Given the description of an element on the screen output the (x, y) to click on. 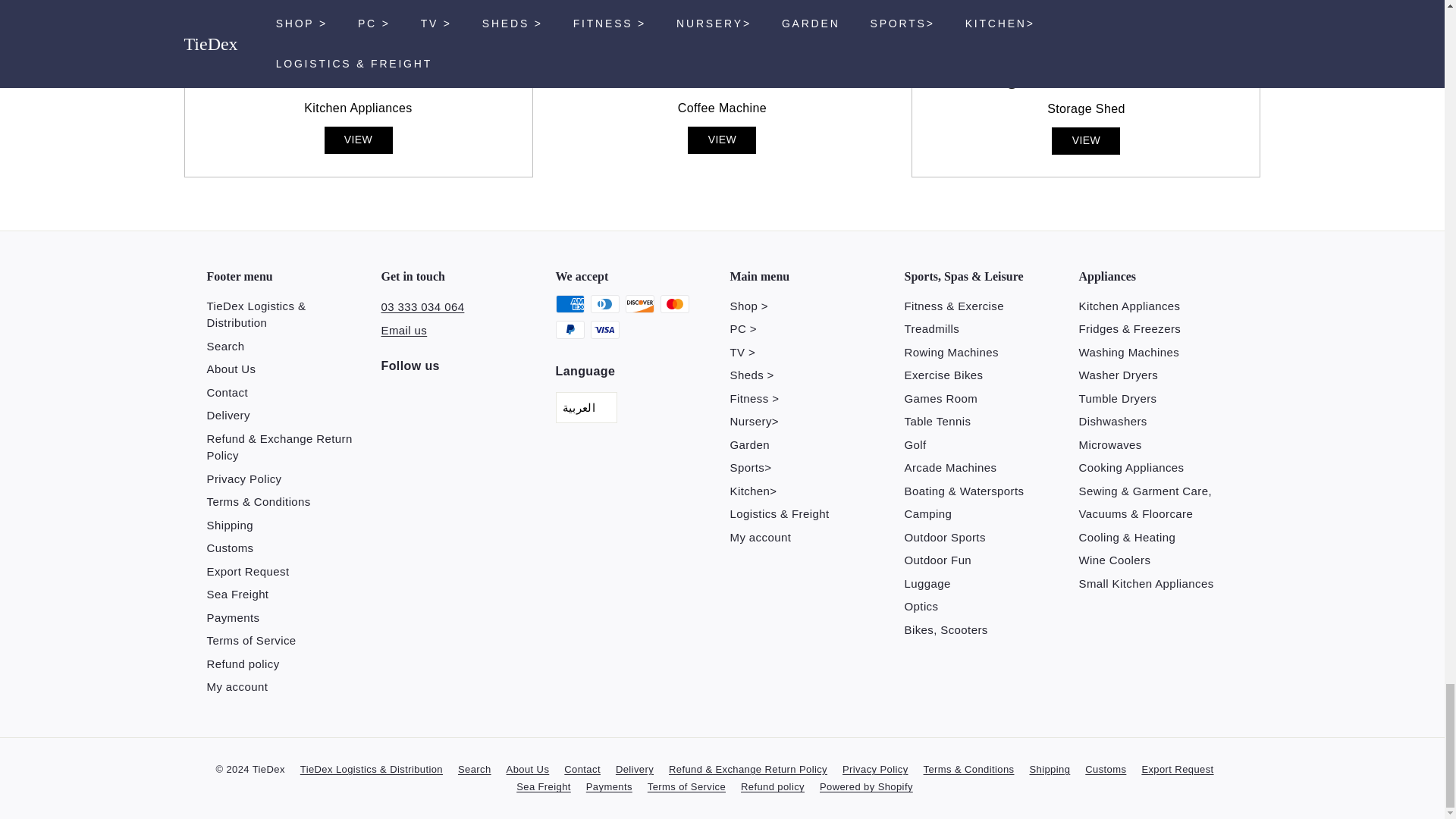
Mastercard (673, 303)
Visa (603, 330)
American Express (568, 303)
Diners Club (603, 303)
PayPal (568, 330)
Discover (638, 303)
